Given the description of an element on the screen output the (x, y) to click on. 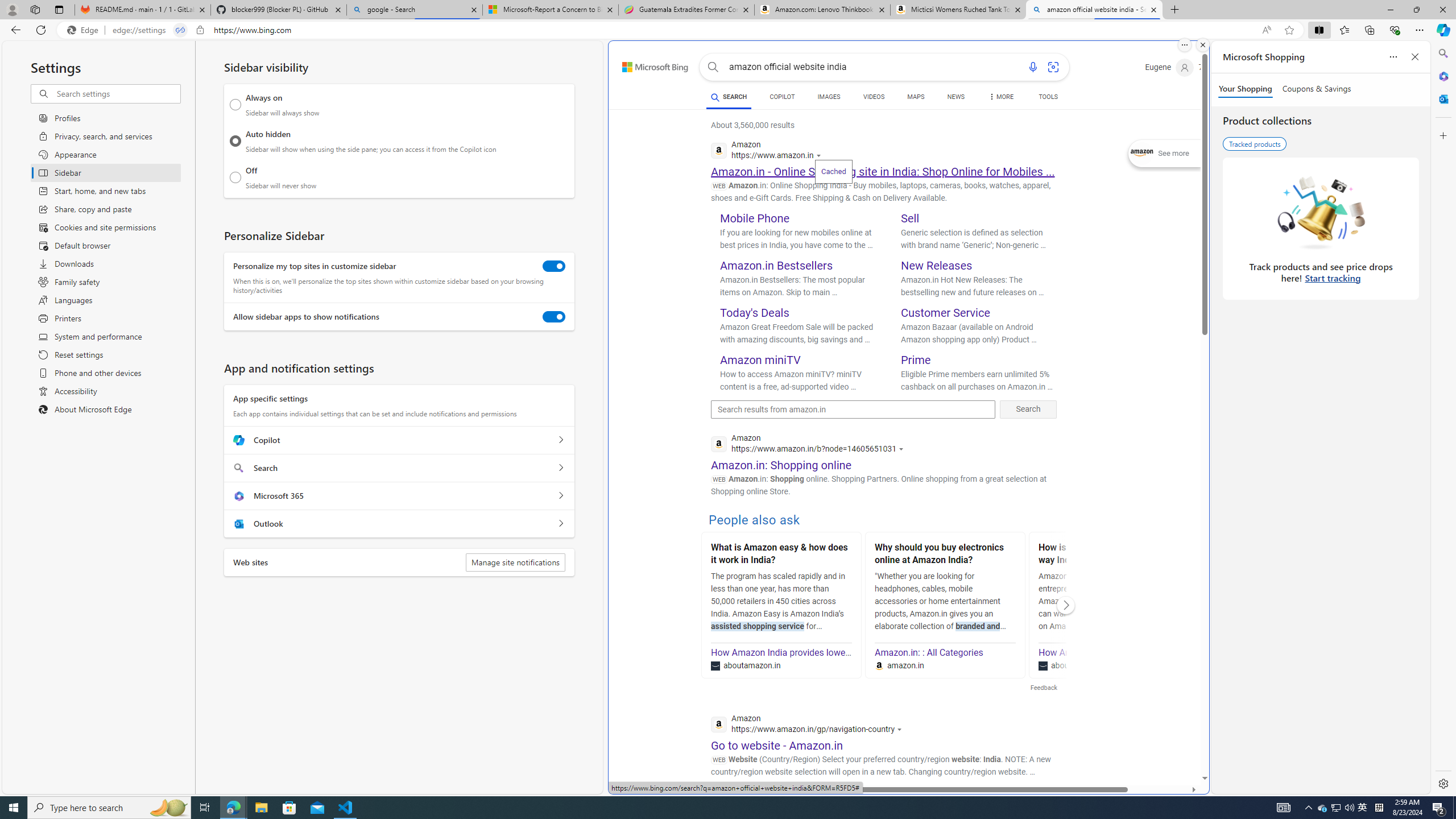
Amazon.in: Shopping online (780, 464)
Customize (1442, 135)
Click to scroll right (1065, 605)
Personalize my top sites in customize sidebar (553, 265)
Skip to content (642, 63)
IMAGES (828, 96)
Cached (833, 171)
COPILOT (781, 98)
TOOLS (1048, 98)
AutomationID: mfa_root (1161, 743)
